Given the description of an element on the screen output the (x, y) to click on. 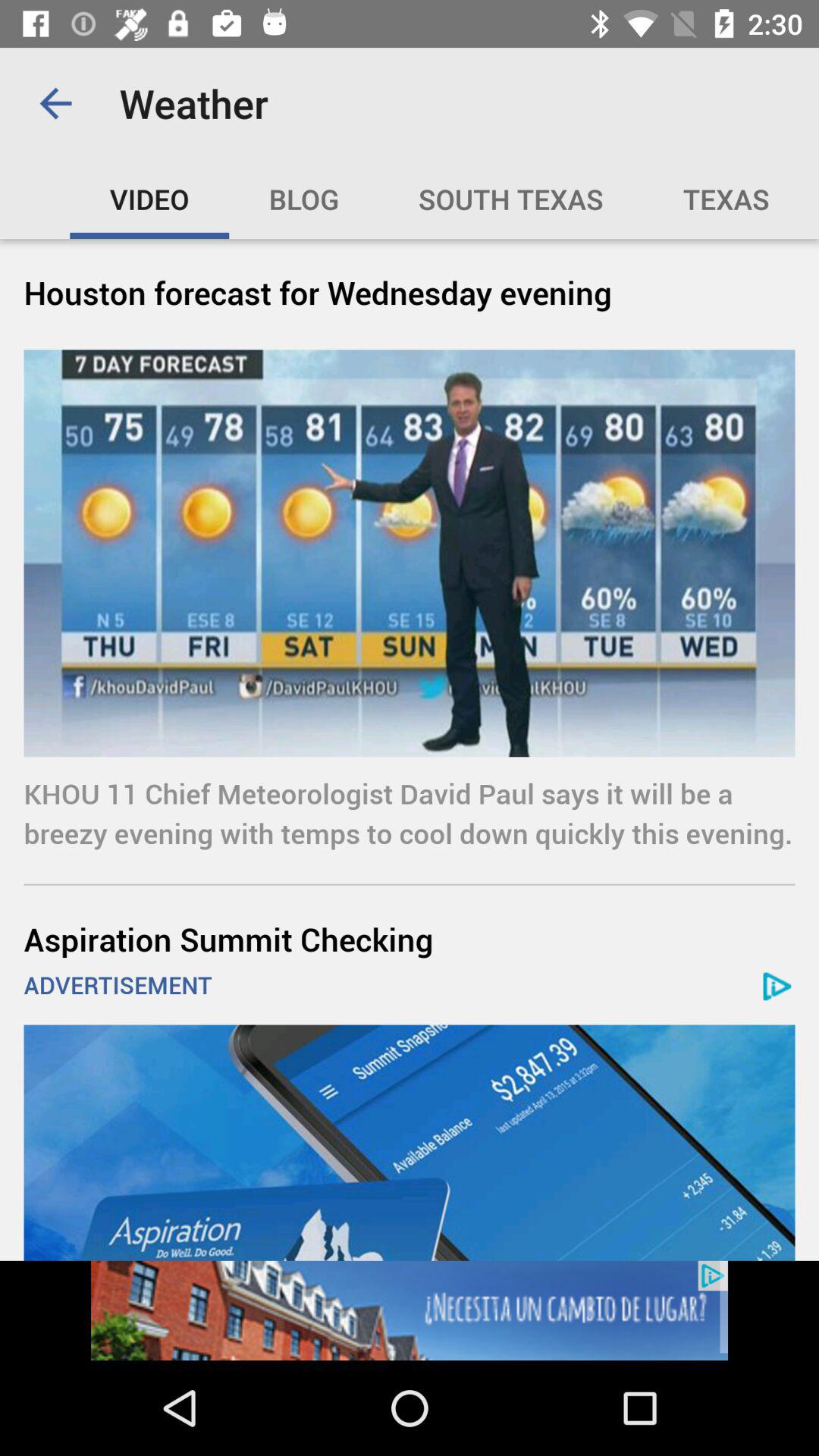
select the addvertisement (409, 1142)
